Given the description of an element on the screen output the (x, y) to click on. 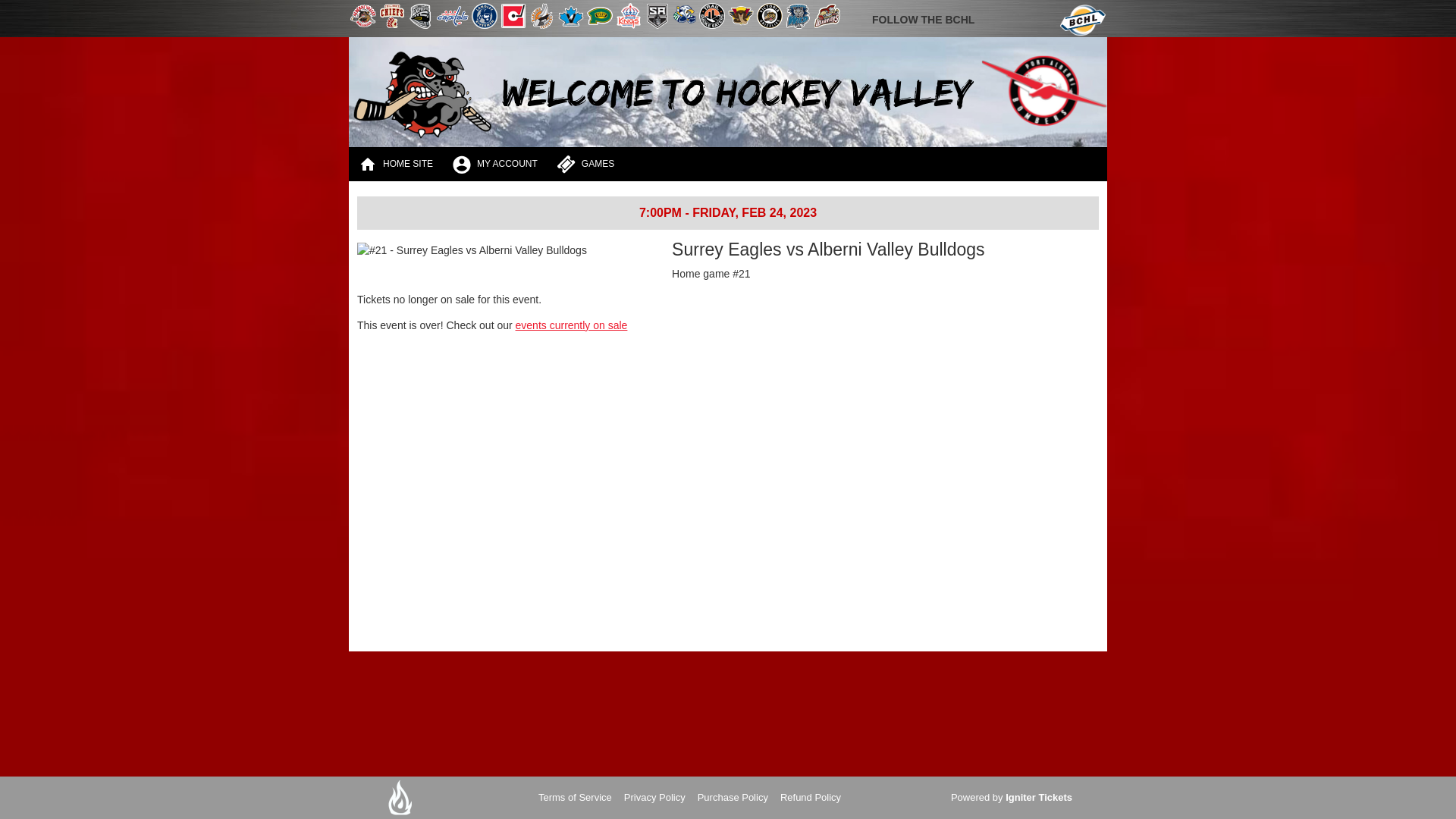
HOME SITE Element type: text (395, 164)
events currently on sale Element type: text (571, 324)
Purchase Policy Element type: text (732, 797)
Refund Policy Element type: text (810, 797)
Terms of Service Element type: text (574, 797)
MY ACCOUNT Element type: text (494, 164)
GAMES Element type: text (585, 164)
Igniter Tickets Element type: text (1038, 797)
Privacy Policy Element type: text (654, 797)
